Given the description of an element on the screen output the (x, y) to click on. 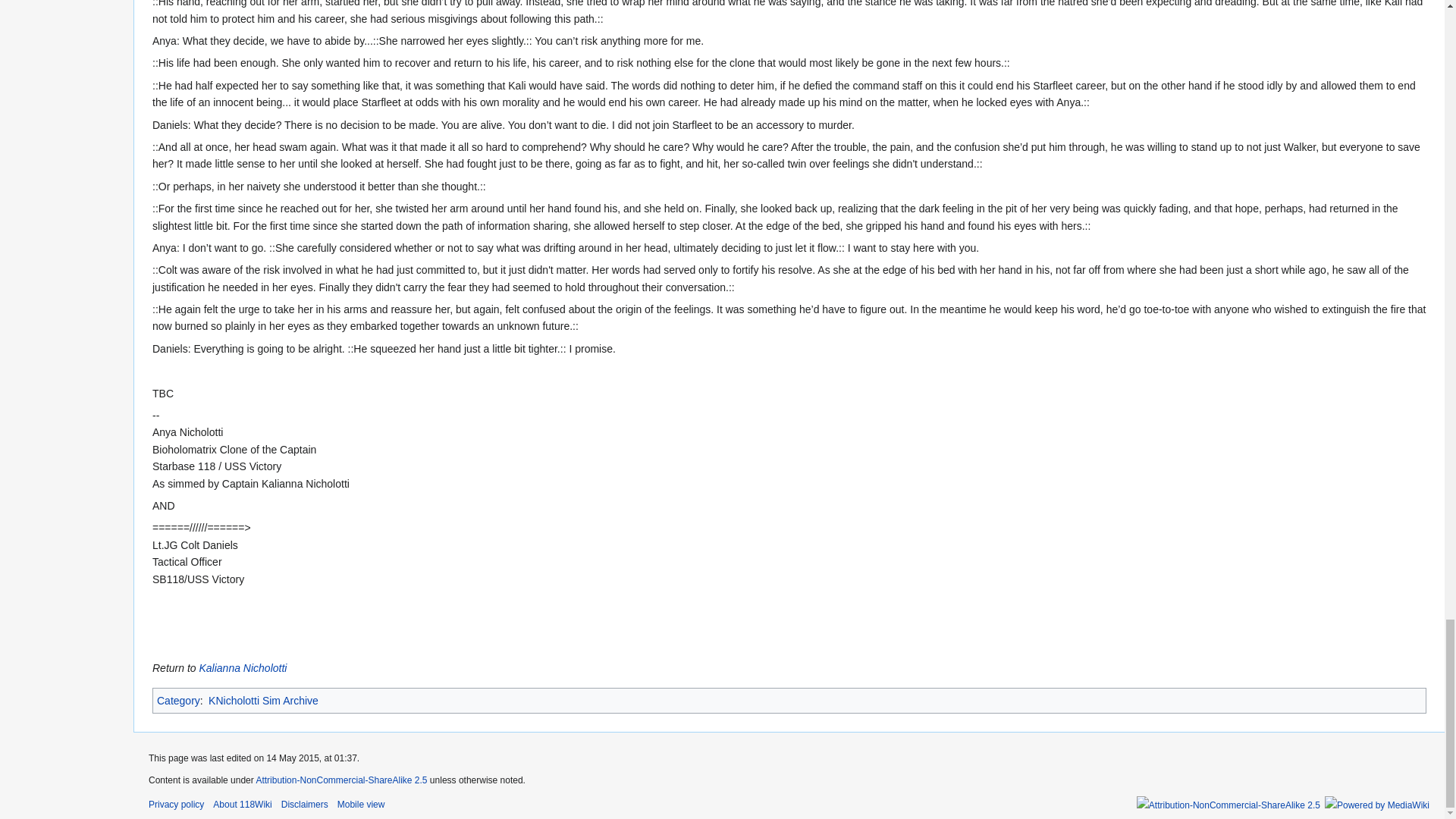
Kalianna Nicholotti (242, 667)
KNicholotti Sim Archive (263, 700)
Category:KNicholotti Sim Archive (263, 700)
Category (178, 700)
Special:Categories (178, 700)
Nicholotti, Kali (242, 667)
